Given the description of an element on the screen output the (x, y) to click on. 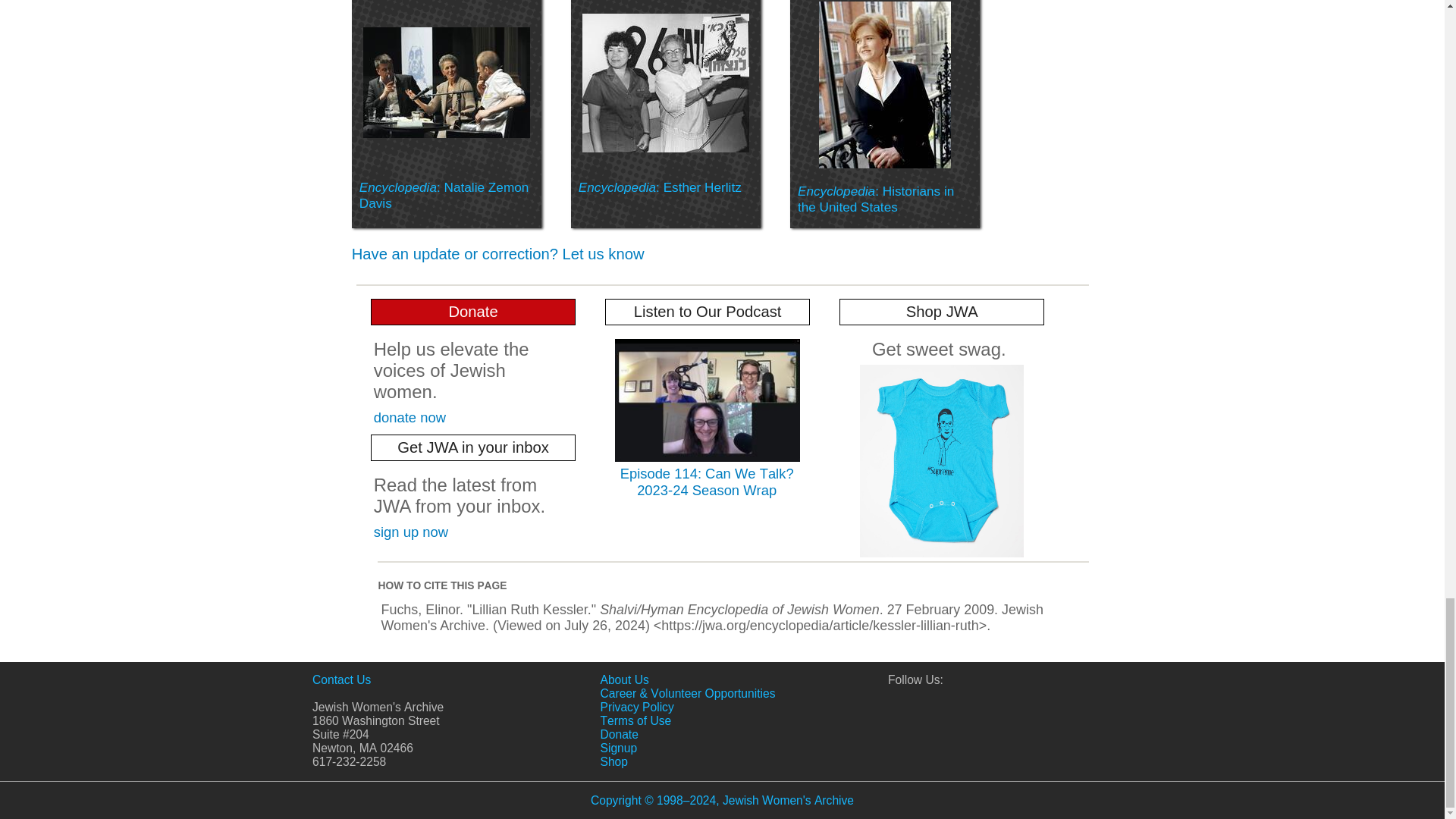
Natalie Zemon Davis (445, 82)
Deborah Lipstadt (884, 84)
